Given the description of an element on the screen output the (x, y) to click on. 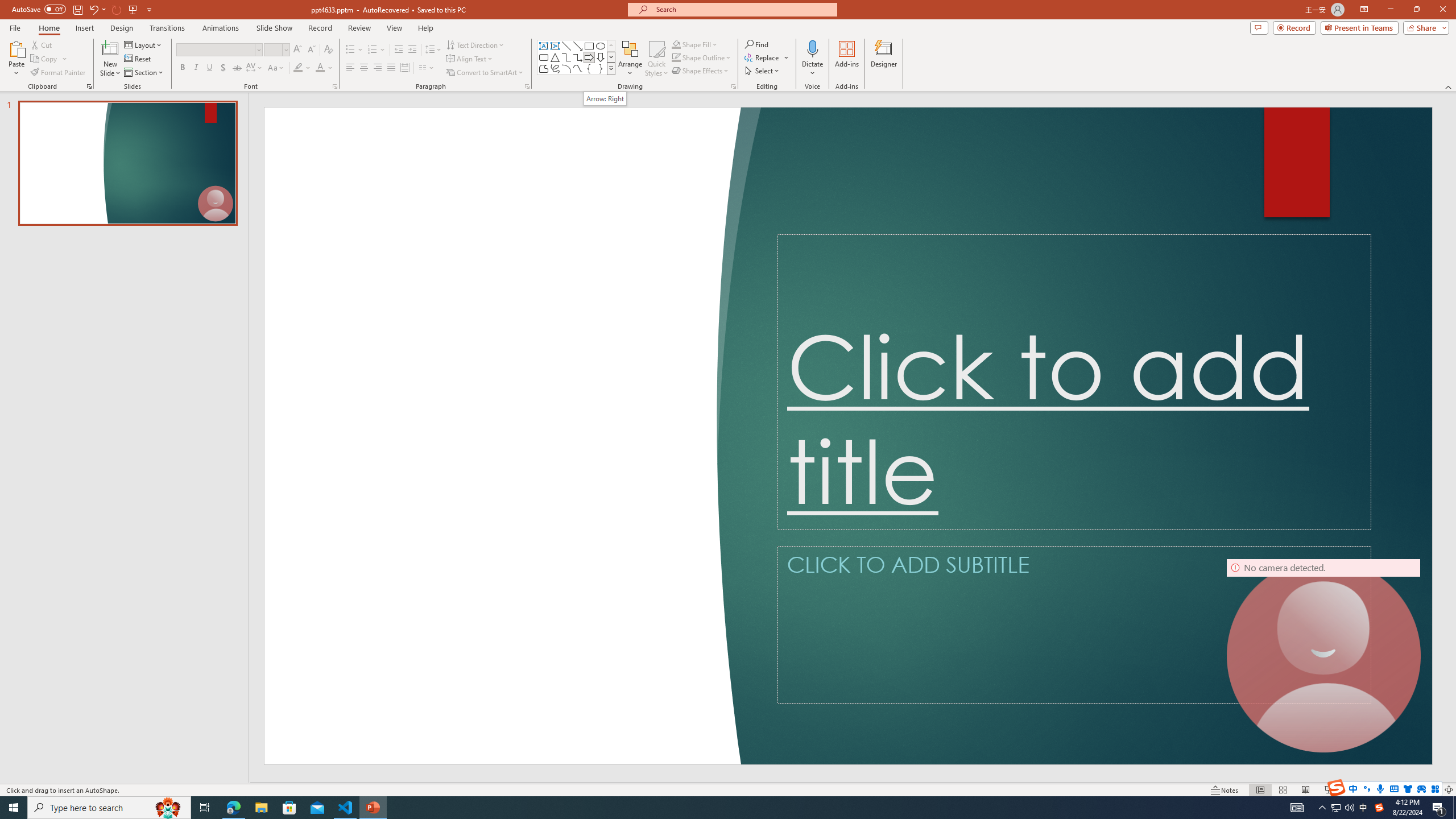
Underline (209, 67)
Arc (566, 68)
AutomationID: ShapesInsertGallery (576, 57)
Left Brace (589, 68)
Italic (195, 67)
Bold (182, 67)
Align Text (470, 58)
